Given the description of an element on the screen output the (x, y) to click on. 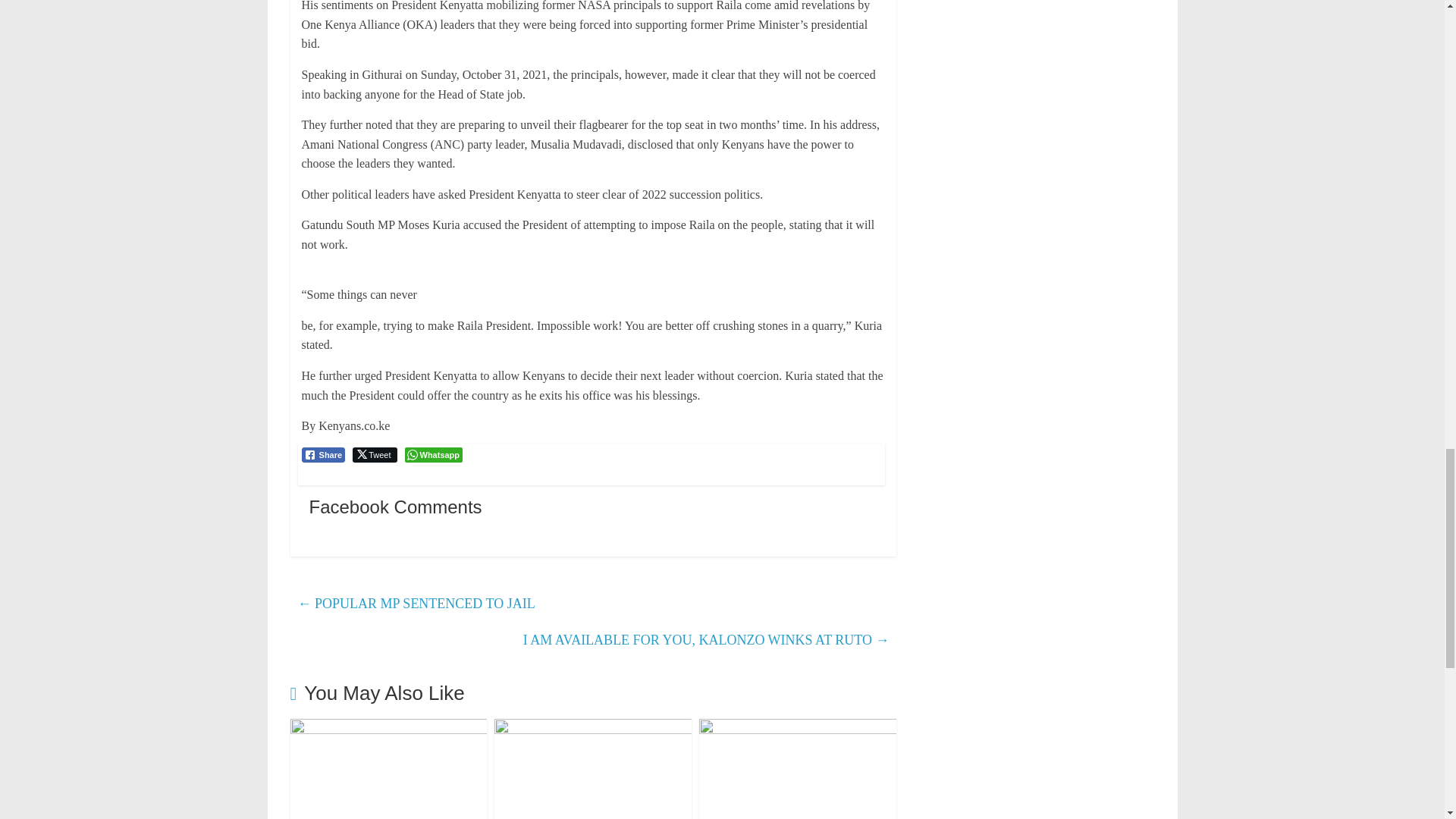
Tweet (374, 454)
Share (323, 454)
LIST OF MINISTERS WHO HAVE RESIGNED TO JOIN POLITICS (387, 727)
Whatsapp (433, 454)
